Given the description of an element on the screen output the (x, y) to click on. 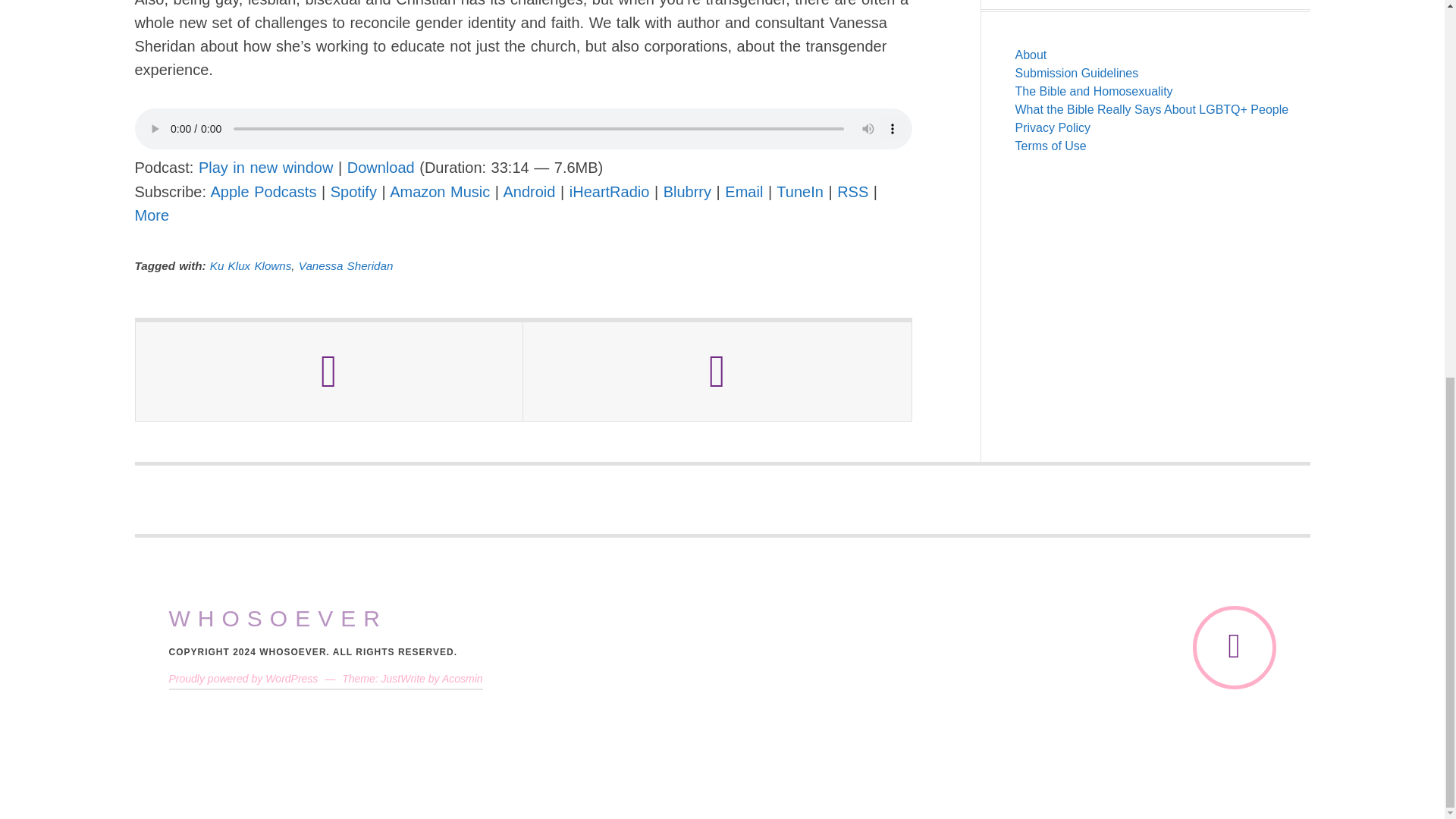
Ku Klux Klowns (250, 265)
Subscribe via RSS (852, 191)
TuneIn (800, 191)
Subscribe on Blubrry (687, 191)
RSS (852, 191)
Vanessa Sheridan (345, 265)
Download (380, 167)
Subscribe on Android (529, 191)
iHeartRadio (609, 191)
Email (743, 191)
Subscribe by Email (743, 191)
Android (529, 191)
More (152, 215)
Download (380, 167)
Spotify (353, 191)
